Given the description of an element on the screen output the (x, y) to click on. 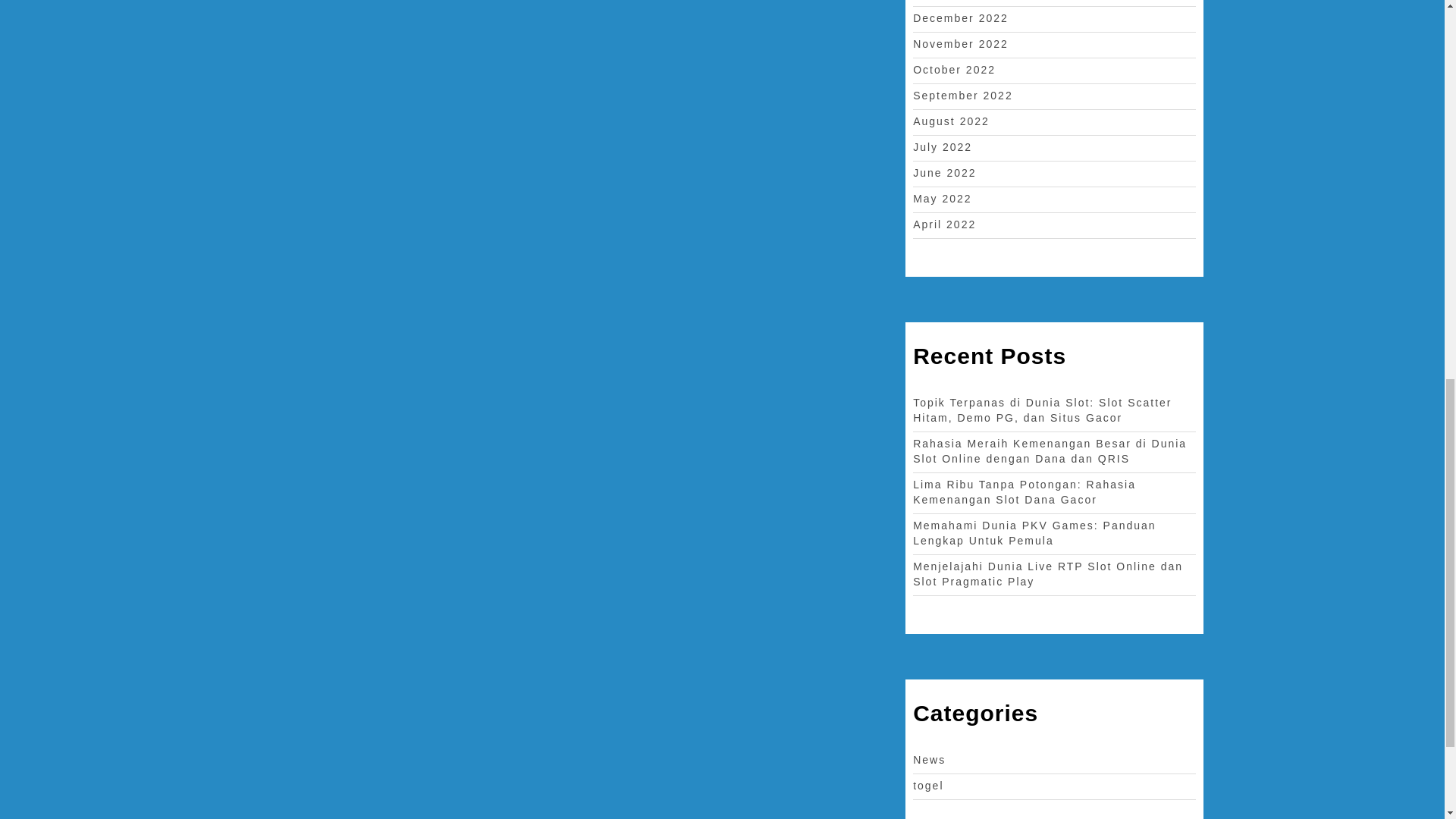
August 2022 (951, 121)
June 2022 (943, 173)
December 2022 (960, 18)
November 2022 (960, 43)
April 2022 (943, 224)
September 2022 (962, 95)
May 2022 (941, 198)
Lima Ribu Tanpa Potongan: Rahasia Kemenangan Slot Dana Gacor (1023, 492)
October 2022 (953, 69)
Memahami Dunia PKV Games: Panduan Lengkap Untuk Pemula (1034, 533)
July 2022 (942, 146)
